Given the description of an element on the screen output the (x, y) to click on. 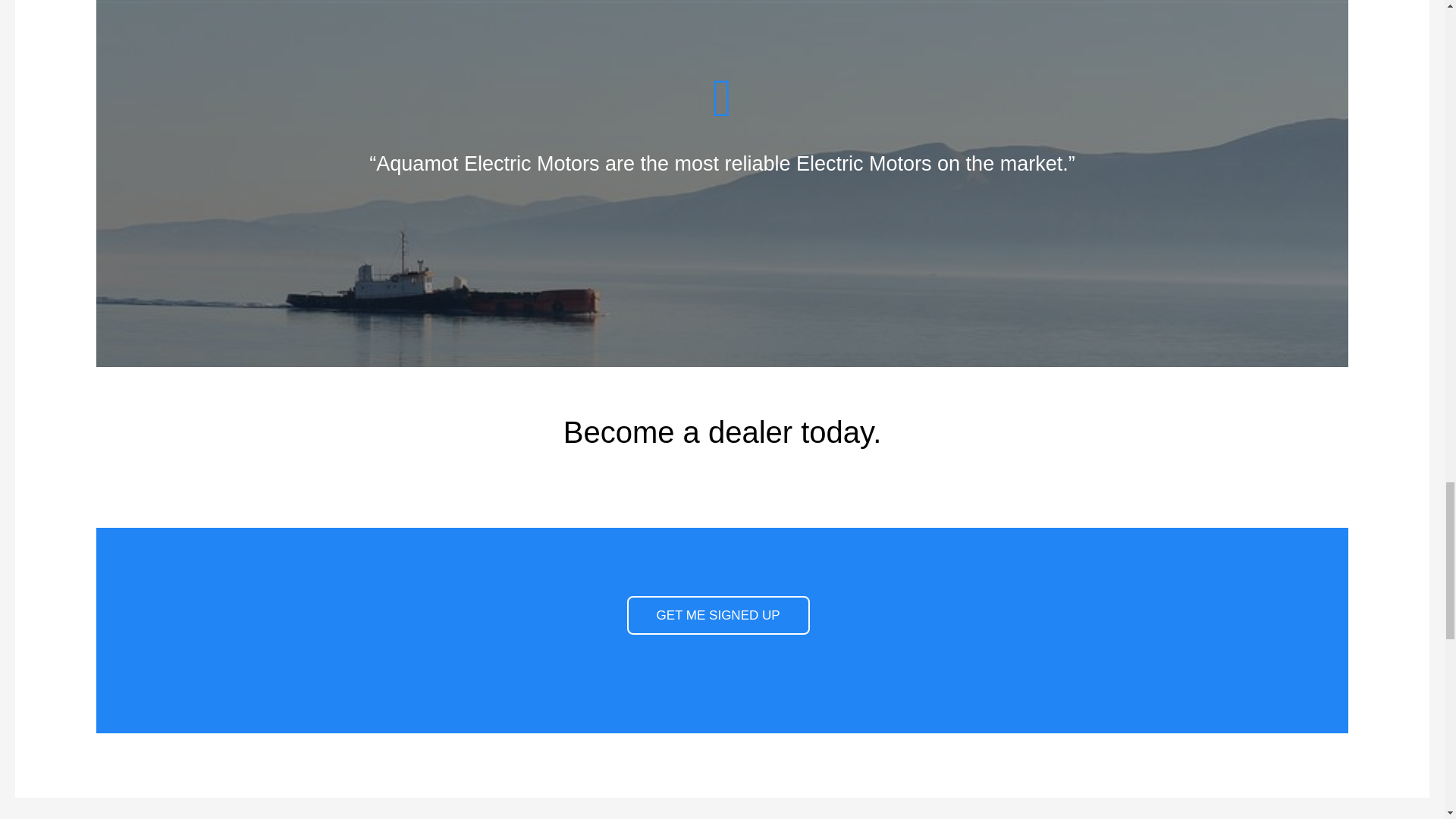
GET ME SIGNED UP (717, 615)
